Given the description of an element on the screen output the (x, y) to click on. 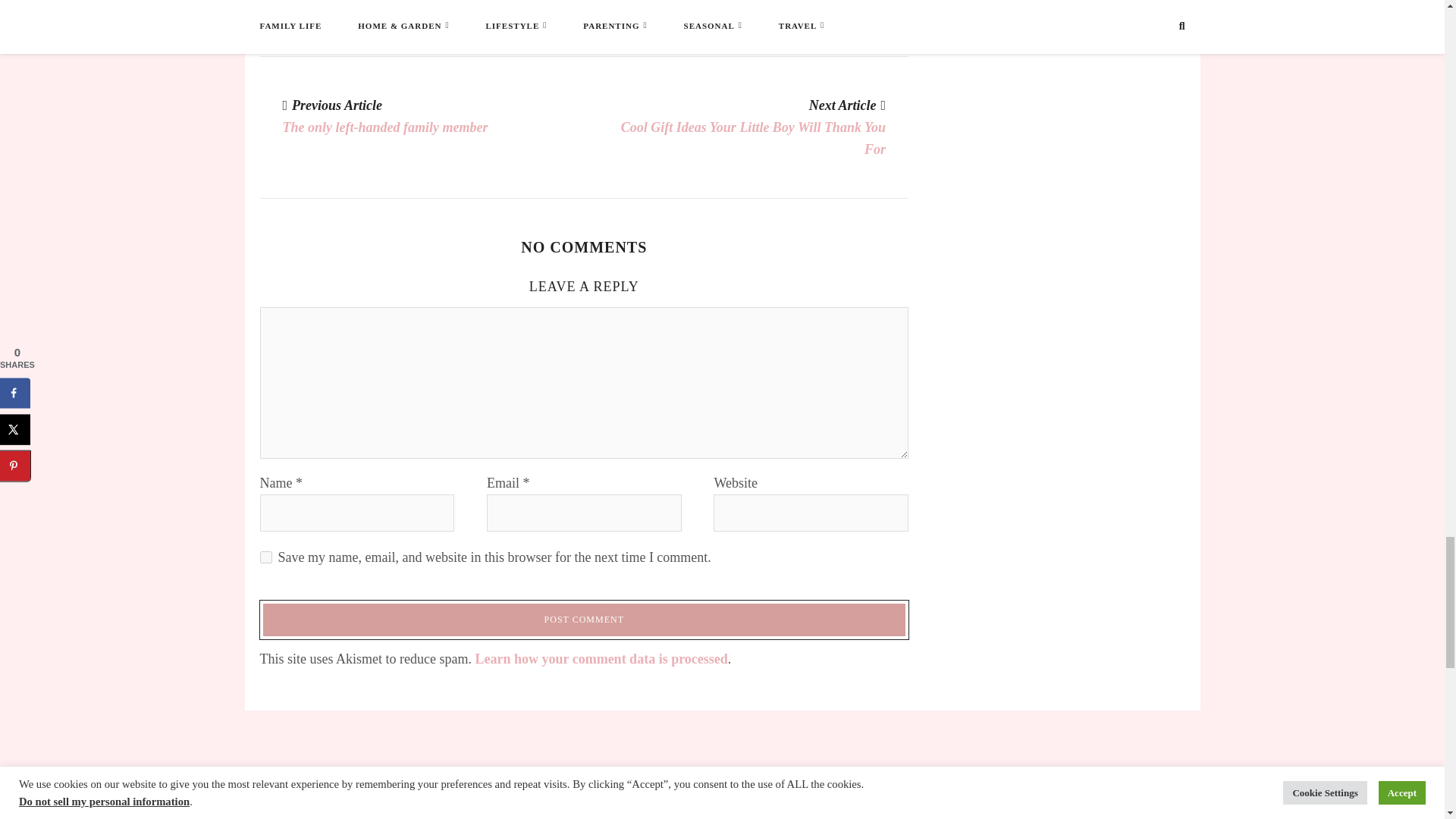
Post Comment (583, 619)
yes (264, 557)
